Given the description of an element on the screen output the (x, y) to click on. 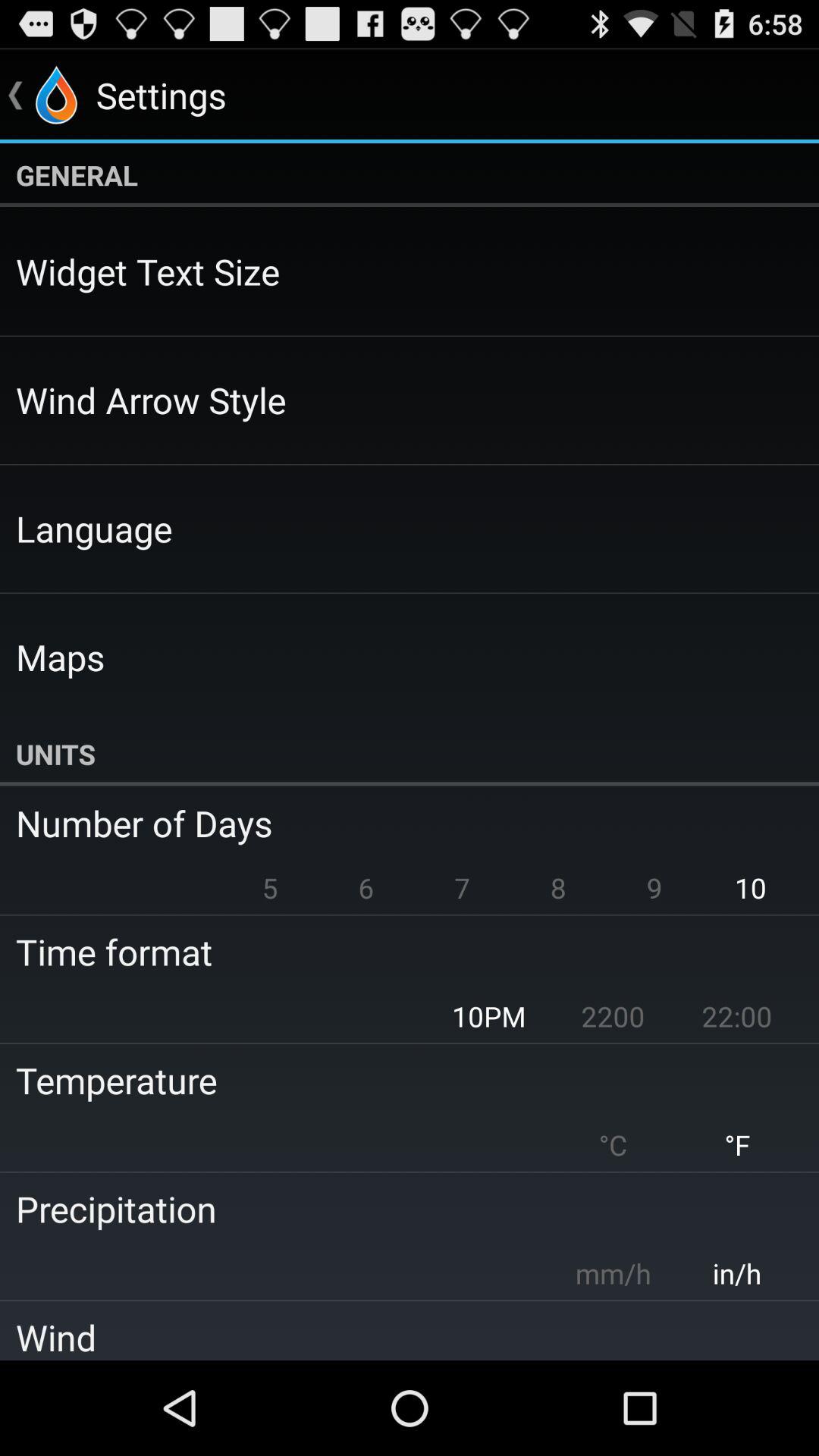
turn on the precipitation icon (399, 1208)
